Given the description of an element on the screen output the (x, y) to click on. 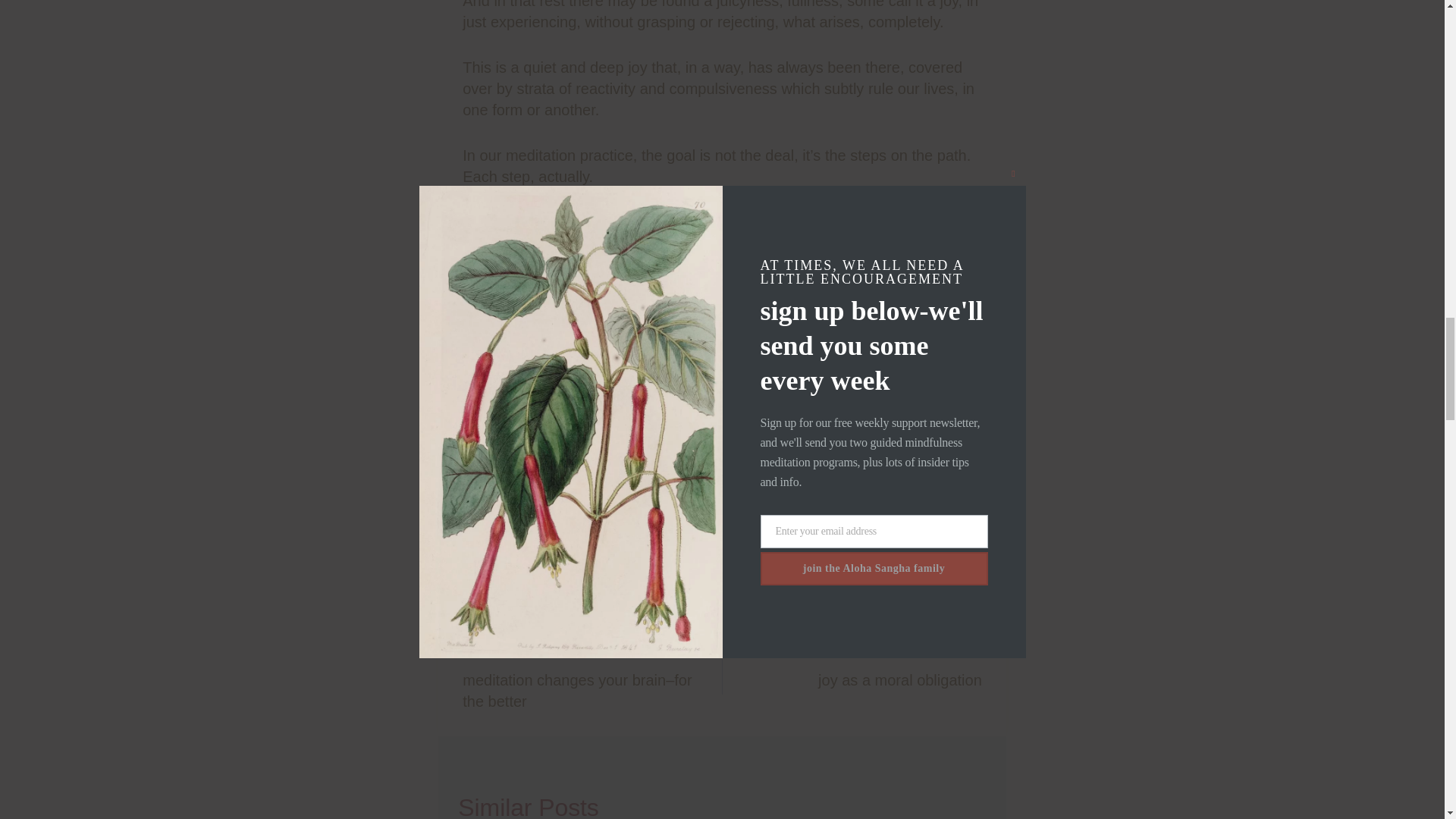
Share on Email (683, 565)
Share on WhatsApp (798, 565)
Share on Reddit (760, 565)
Share on Twitter (722, 565)
Thich Nhat Hanh (851, 665)
Share on Facebook (543, 221)
